Given the description of an element on the screen output the (x, y) to click on. 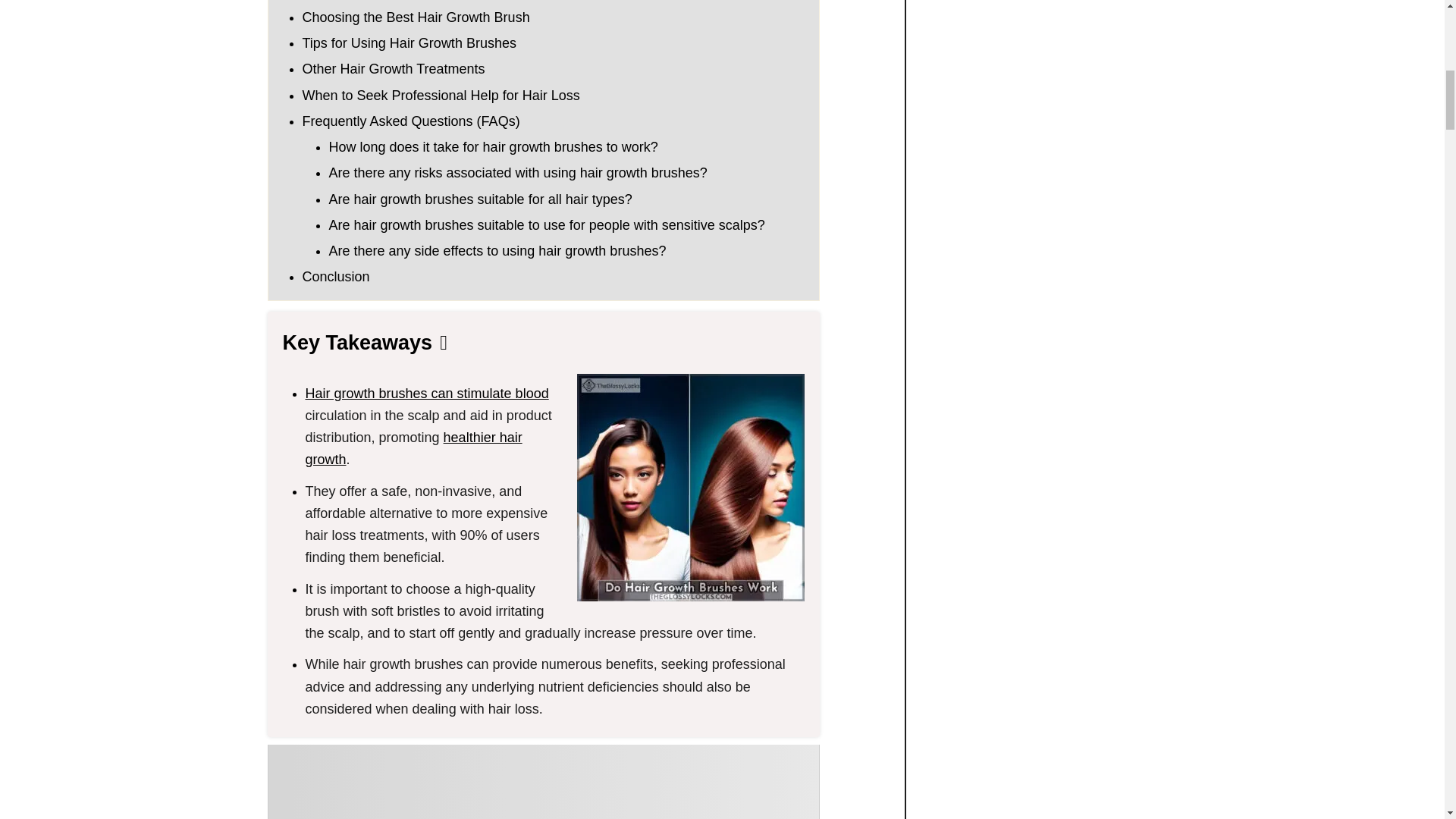
Other Hair Growth Treatments (392, 68)
Conclusion (335, 276)
Choosing the Best Hair Growth Brush (415, 17)
How long does it take for hair growth brushes to work? (493, 146)
Tips for Using Hair Growth Brushes (408, 43)
Are there any side effects to using hair growth brushes? (497, 250)
Are hair growth brushes suitable for all hair types? (480, 199)
When to Seek Professional Help for Hair Loss (440, 95)
